Given the description of an element on the screen output the (x, y) to click on. 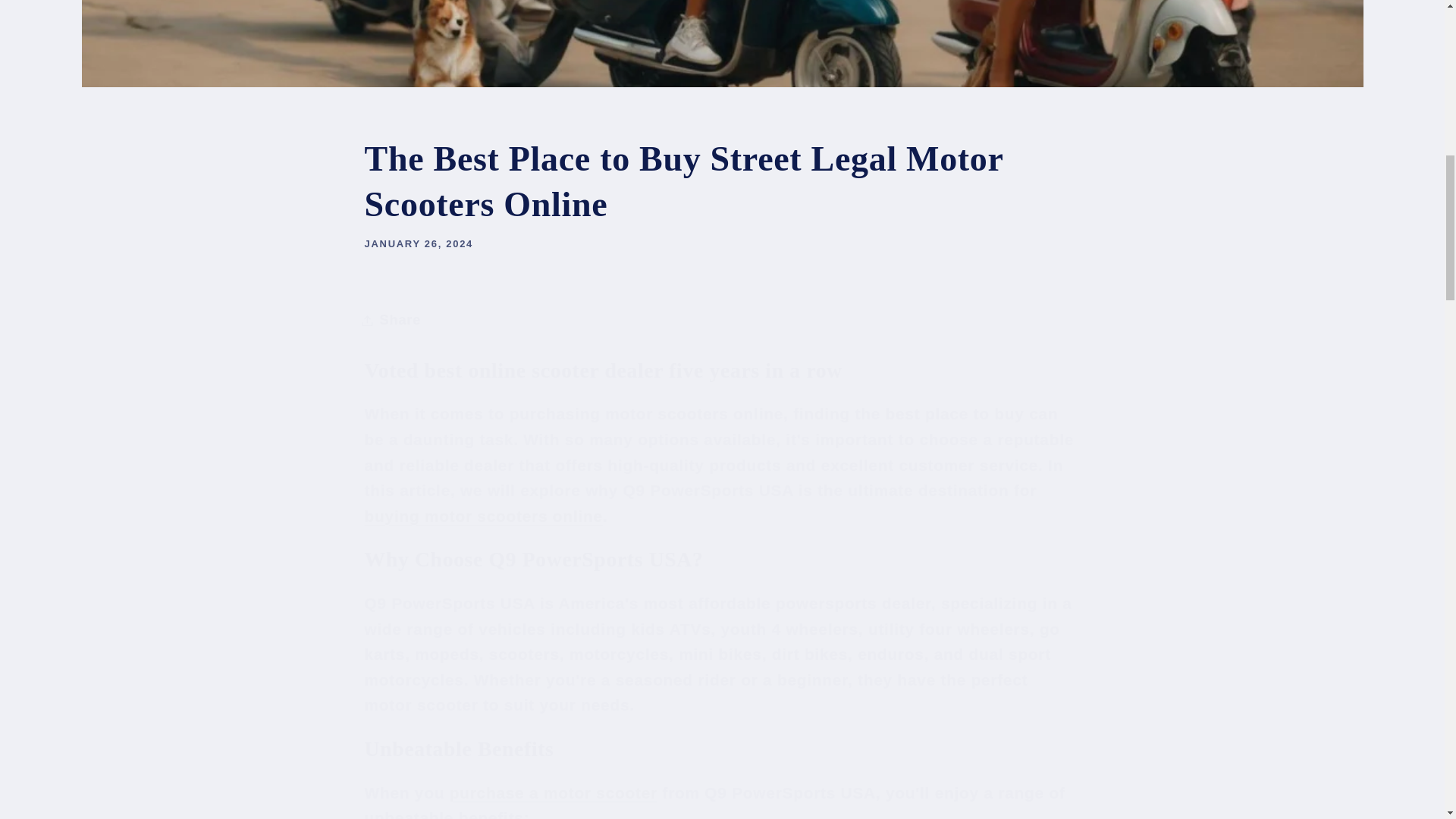
best place to buy a scooter online - Q9 PowerSports USA (553, 792)
Share (722, 320)
